Given the description of an element on the screen output the (x, y) to click on. 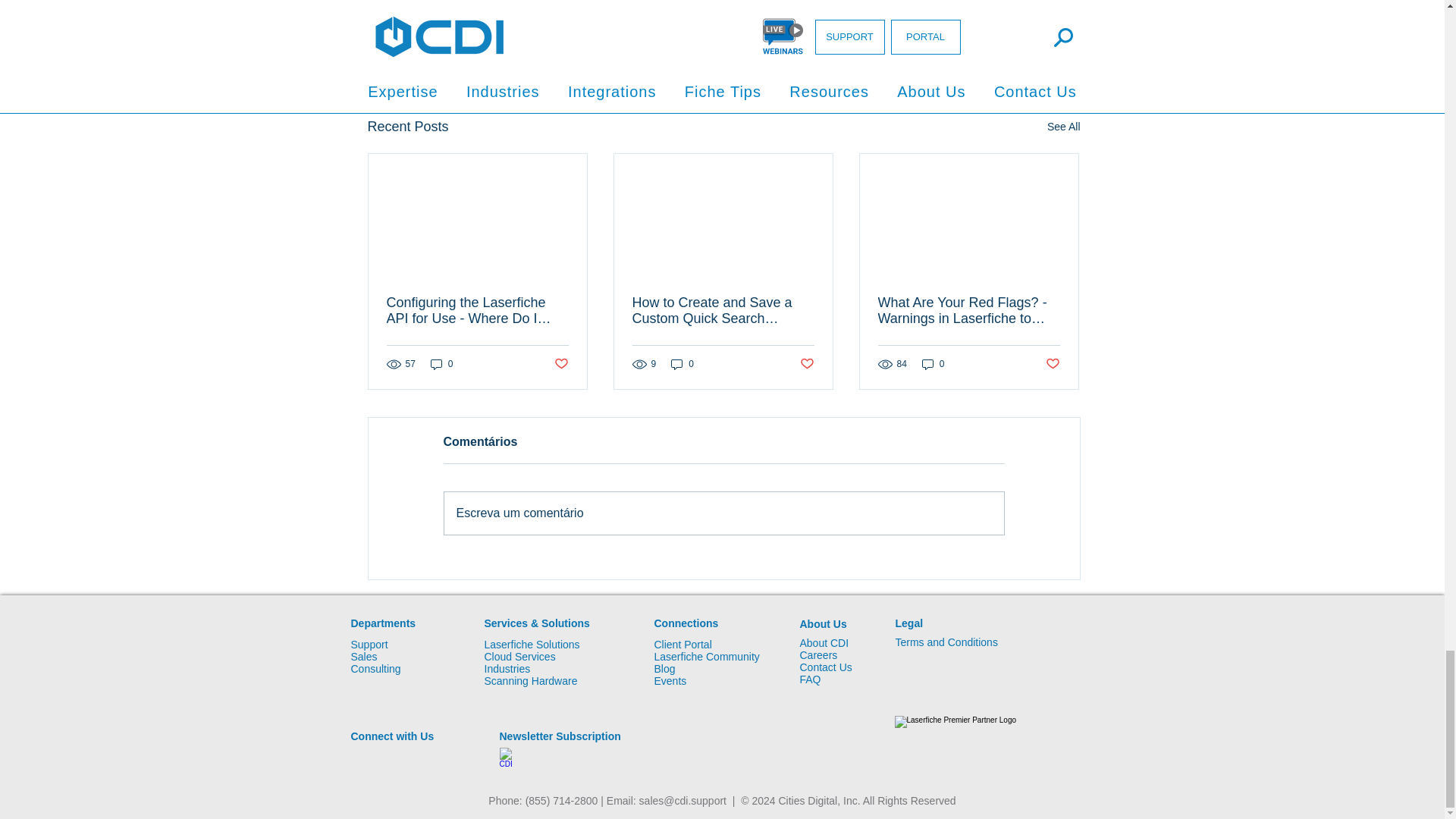
CDI Newsletter (509, 756)
